Given the description of an element on the screen output the (x, y) to click on. 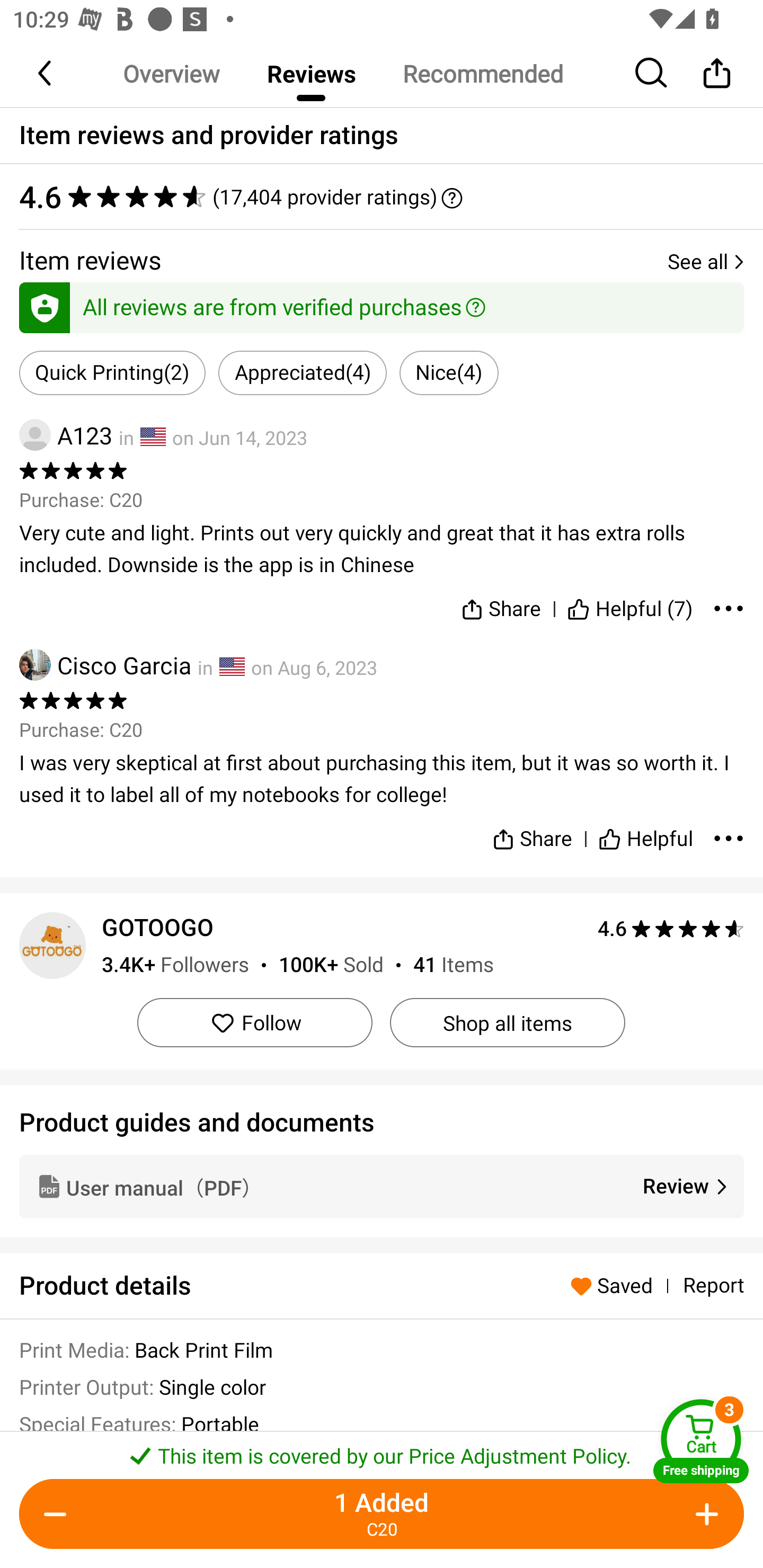
Overview (171, 72)
Reviews (311, 72)
Recommended (482, 72)
Back (46, 72)
Share (716, 72)
4.6 ‪(17,404 provider ratings) (381, 196)
All reviews are from verified purchases  (381, 303)
Quick Printing(2) (112, 373)
Appreciated(4) (302, 373)
Nice(4) (448, 373)
A123 (65, 434)
  Share (500, 605)
  Helpful (7) (629, 605)
Cisco Garcia (105, 664)
  Share (532, 830)
  Helpful (645, 830)
  Follow (254, 1022)
Shop all items (506, 1022)
User manual（PDF） Review (381, 1186)
Report (712, 1285)
 Saved (615, 1285)
Cart Free shipping Cart (701, 1440)
Decrease Quantity Button (59, 1513)
Add Quantity button (703, 1513)
